Given the description of an element on the screen output the (x, y) to click on. 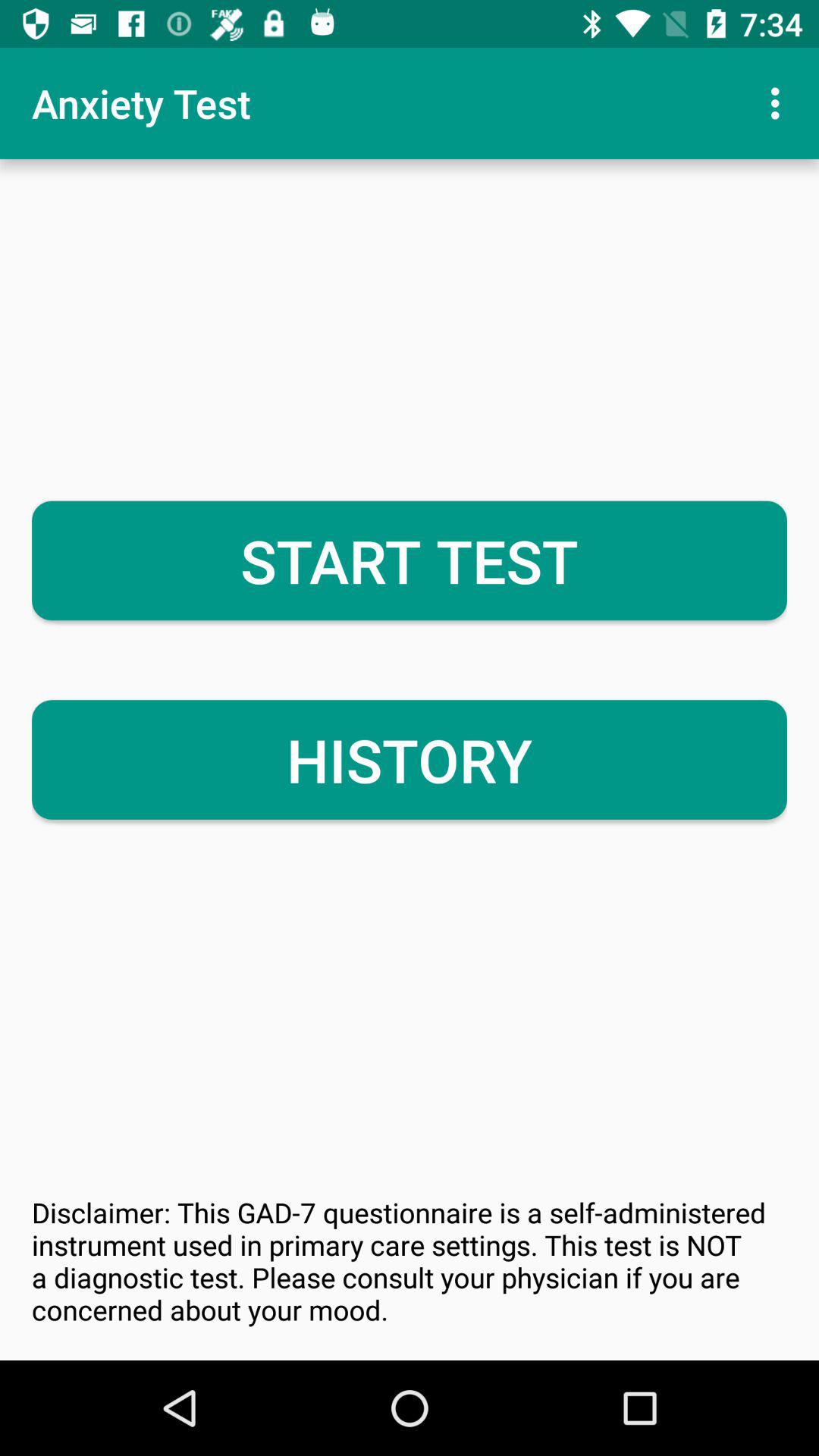
flip to the history icon (409, 759)
